Given the description of an element on the screen output the (x, y) to click on. 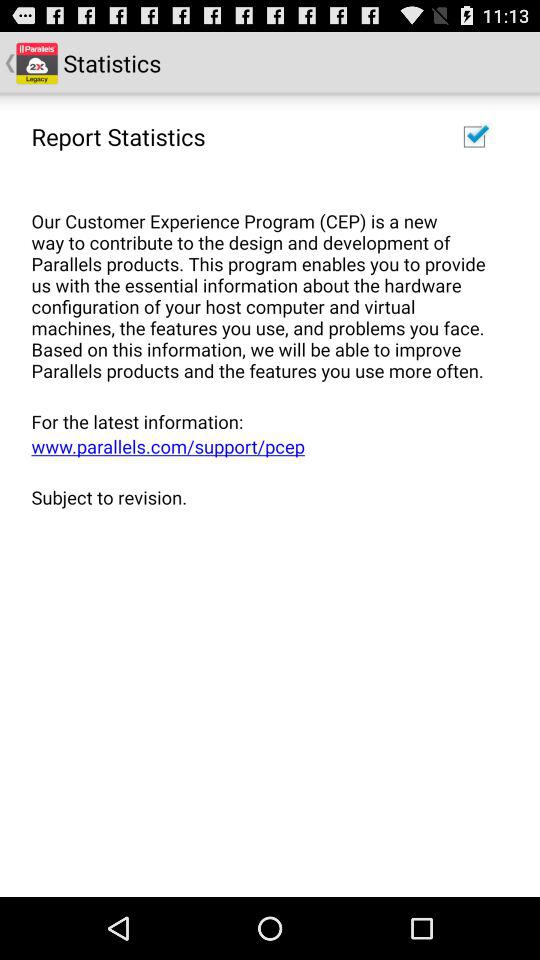
launch subject to revision. (263, 496)
